Given the description of an element on the screen output the (x, y) to click on. 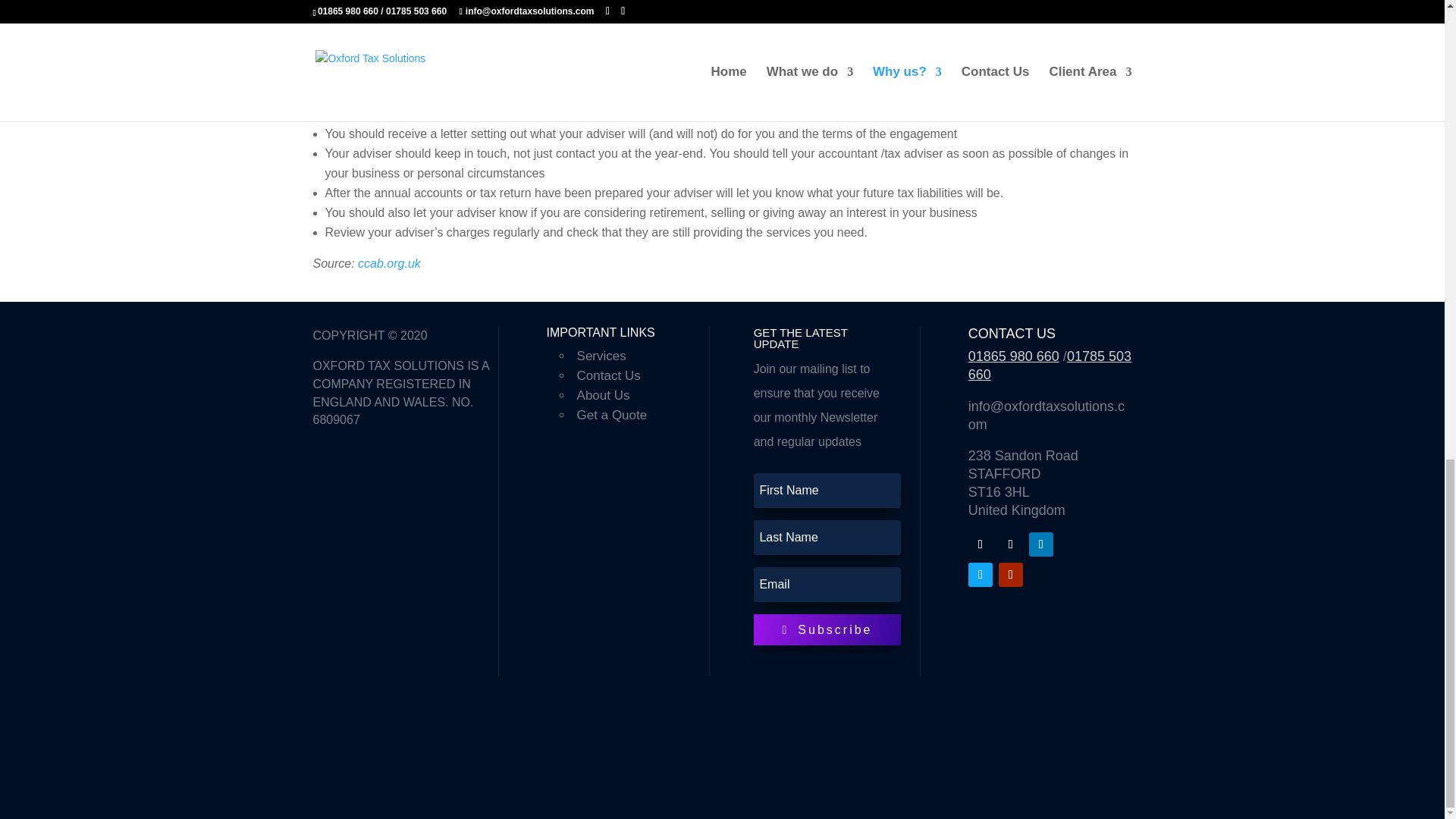
Services (601, 355)
Follow on X (1010, 544)
Follow on Youtube (1010, 574)
Follow on skype (980, 574)
Follow on Facebook (980, 544)
Follow on LinkedIn (1040, 544)
